Given the description of an element on the screen output the (x, y) to click on. 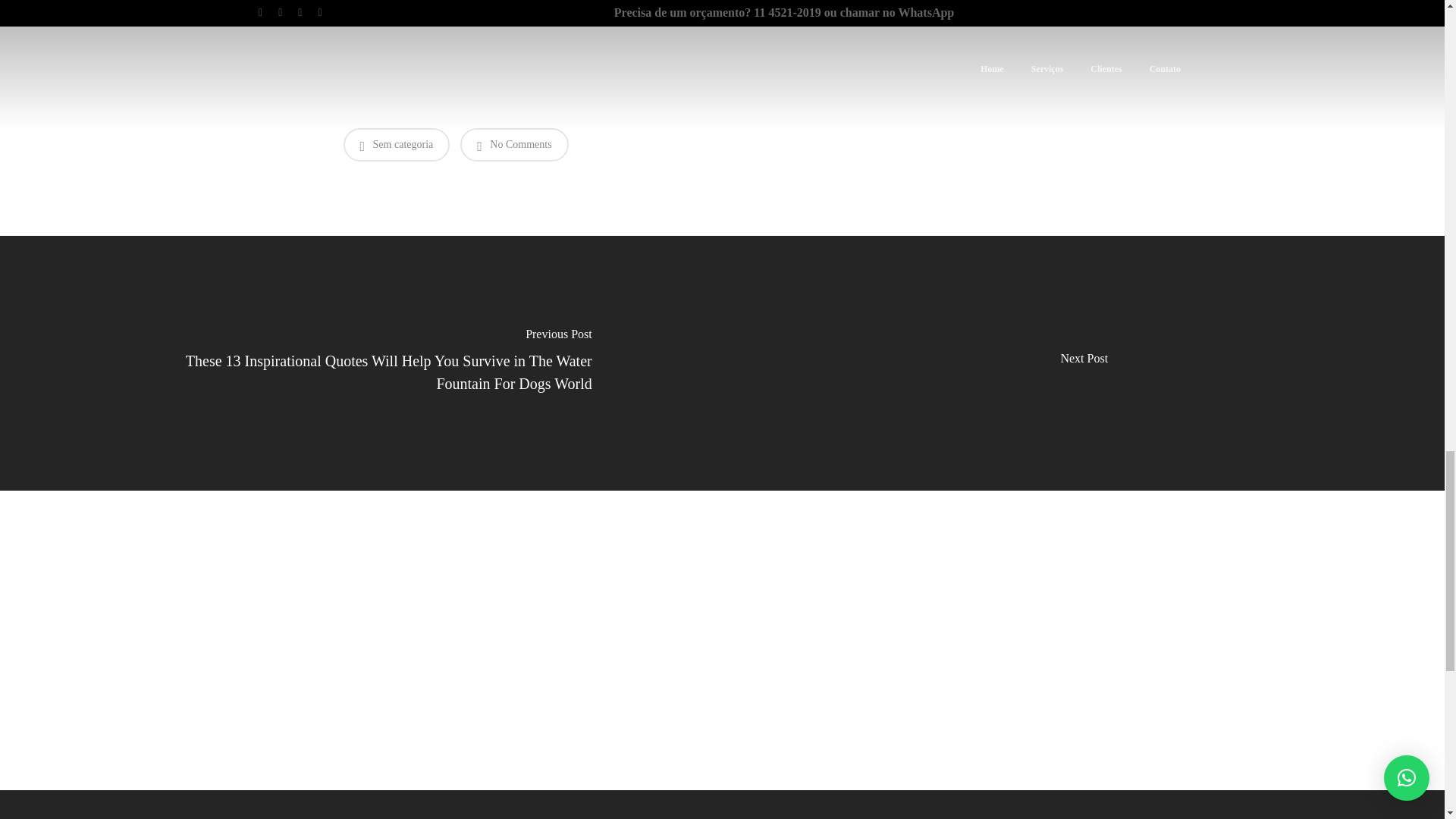
Sem categoria (395, 144)
More posts by admin (722, 710)
No Comments (513, 144)
